Given the description of an element on the screen output the (x, y) to click on. 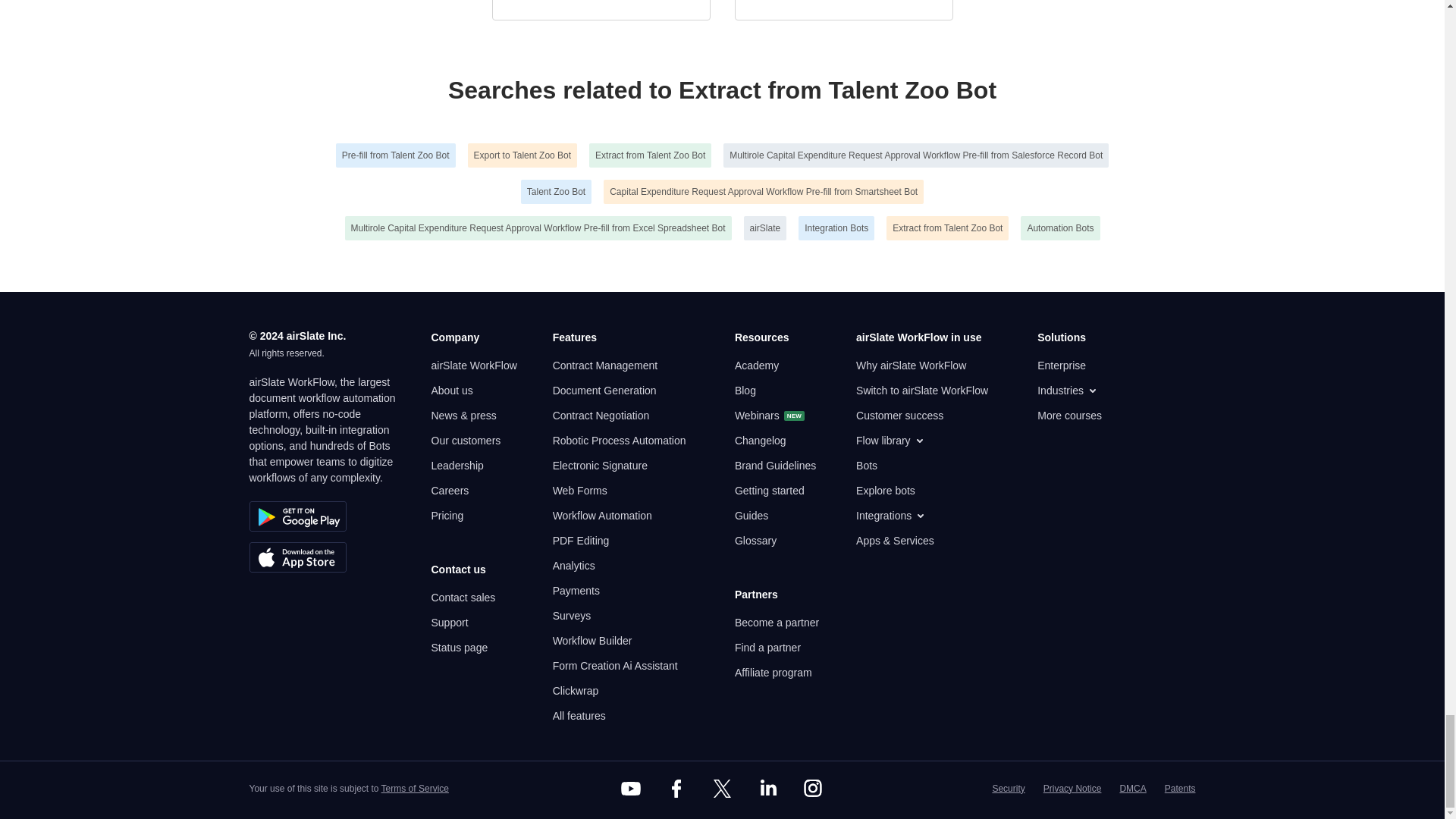
YouTube (630, 788)
LinkedIn (767, 788)
Instagram (812, 788)
Twitter (721, 788)
Facebook (676, 788)
